Given the description of an element on the screen output the (x, y) to click on. 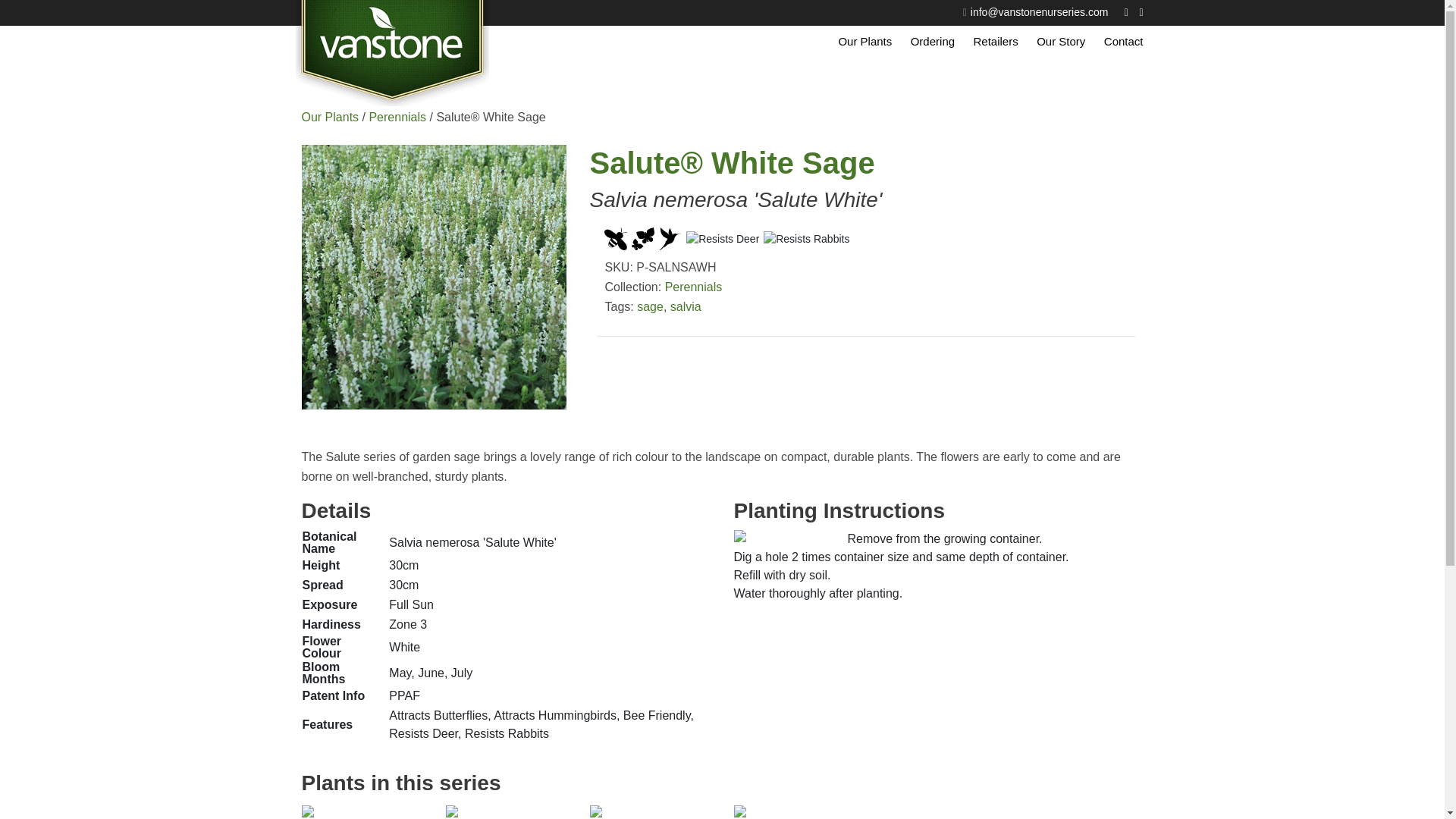
Perennials (693, 286)
Resists Deer (721, 238)
salvia (685, 306)
Our Story (1060, 41)
Our Plants (330, 116)
Attracts Butterflies (642, 238)
Our Plants (864, 41)
Bee Friendly (615, 238)
Attracts Hummingbirds (670, 238)
Retailers (995, 41)
